Given the description of an element on the screen output the (x, y) to click on. 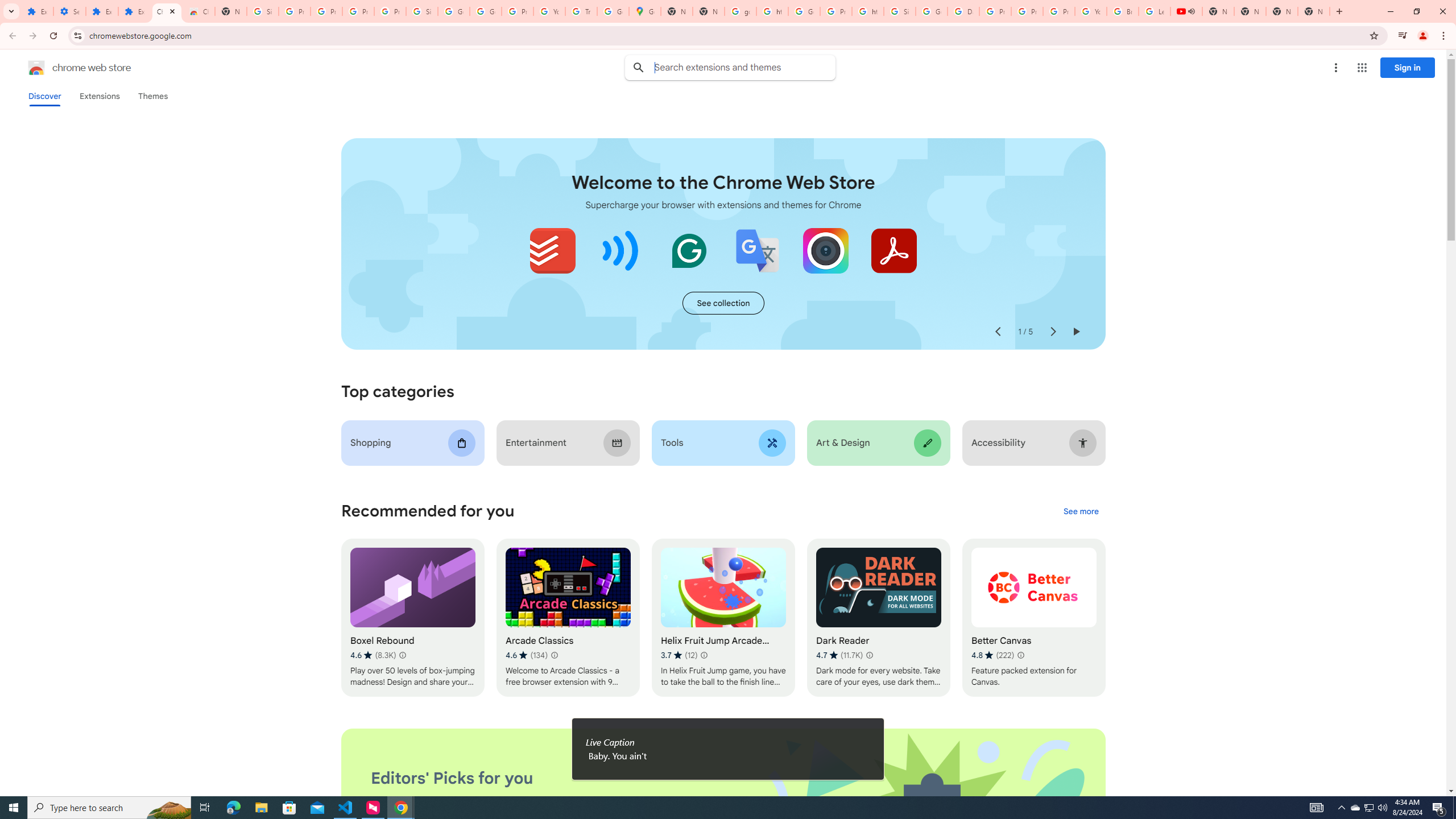
Themes (152, 95)
Next slide (1052, 331)
Todoist for Chrome (552, 250)
YouTube (1091, 11)
Grammarly: AI Writing and Grammar Checker App (689, 250)
Extensions (134, 11)
Entertainment (567, 443)
Average rating 4.8 out of 5 stars. 222 ratings. (992, 655)
Discover (43, 95)
Chrome Web Store logo chrome web store (67, 67)
Privacy Help Center - Policies Help (995, 11)
